Given the description of an element on the screen output the (x, y) to click on. 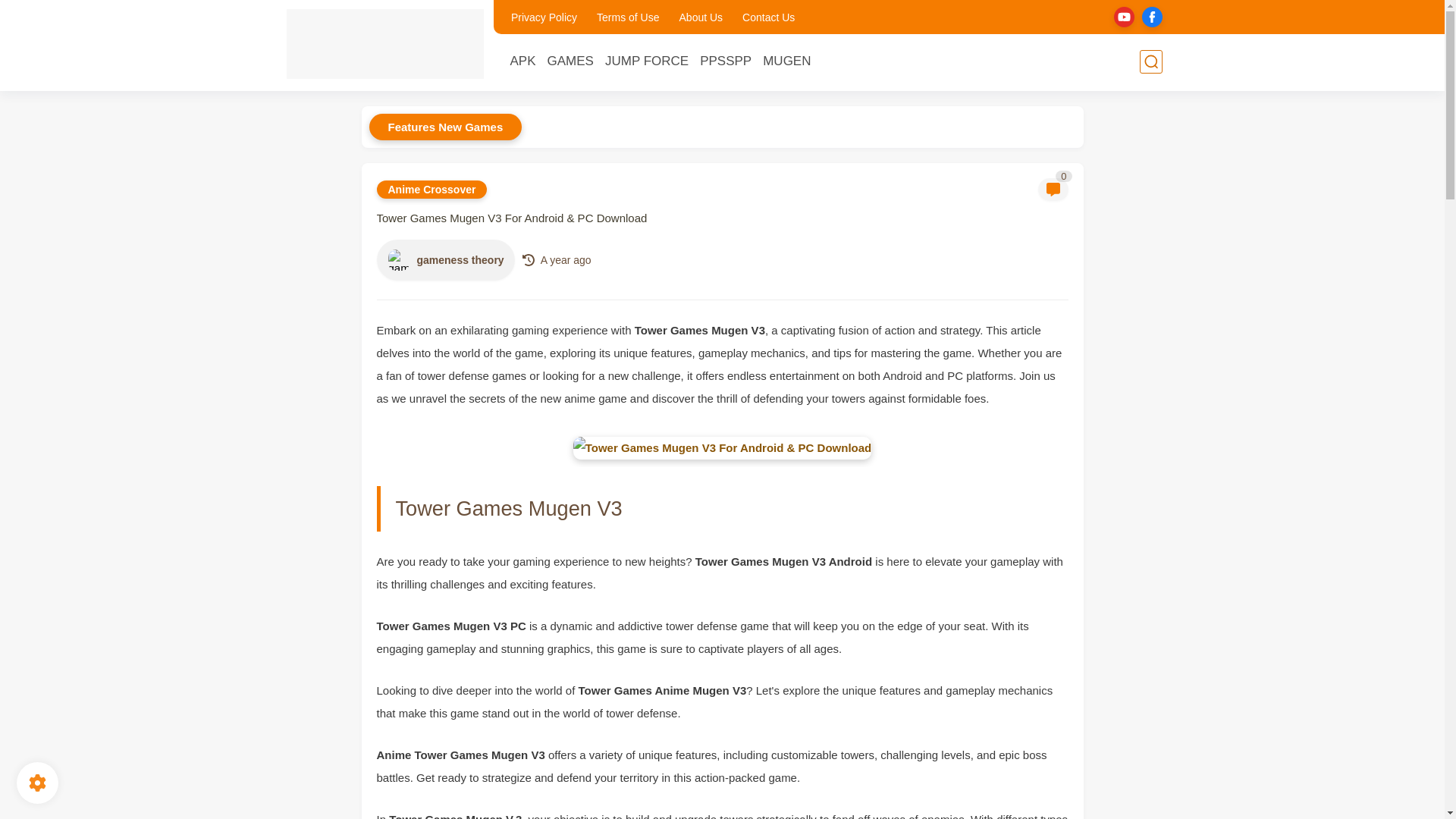
Anime Crossover (430, 189)
PPSSPP (725, 61)
APK (522, 61)
JUMP FORCE (646, 61)
APK (522, 61)
gameness theory (398, 259)
GAMES (570, 61)
Anime Crossover (430, 189)
About Us (700, 17)
JUMP FORCE (646, 61)
